Given the description of an element on the screen output the (x, y) to click on. 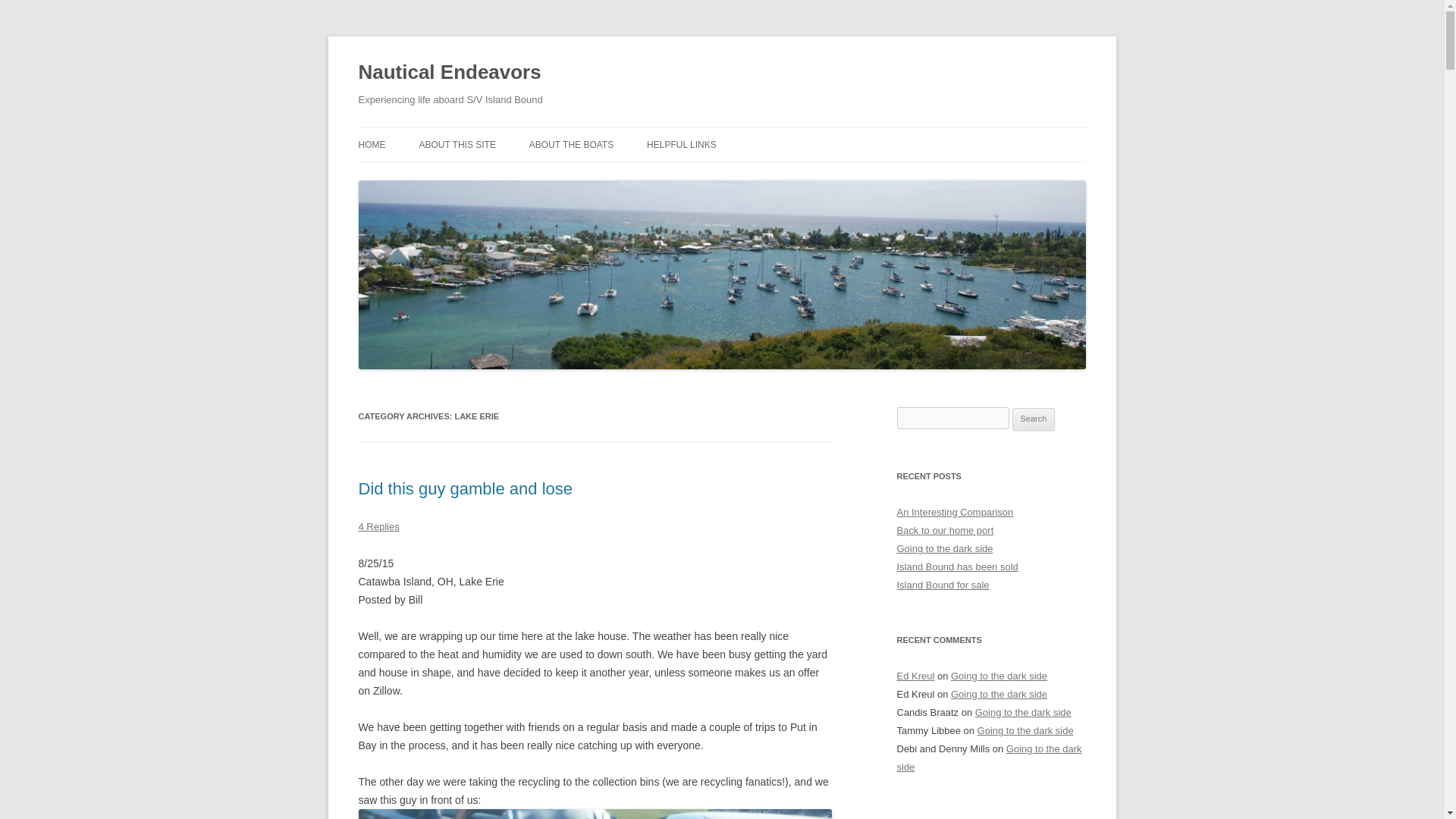
4 Replies (378, 526)
Nautical Endeavors (449, 72)
ABOUT THIS SITE (457, 144)
Search (1033, 418)
ABOUT THE BOATS (570, 144)
Did this guy gamble and lose (465, 488)
HELPFUL LINKS (681, 144)
